Given the description of an element on the screen output the (x, y) to click on. 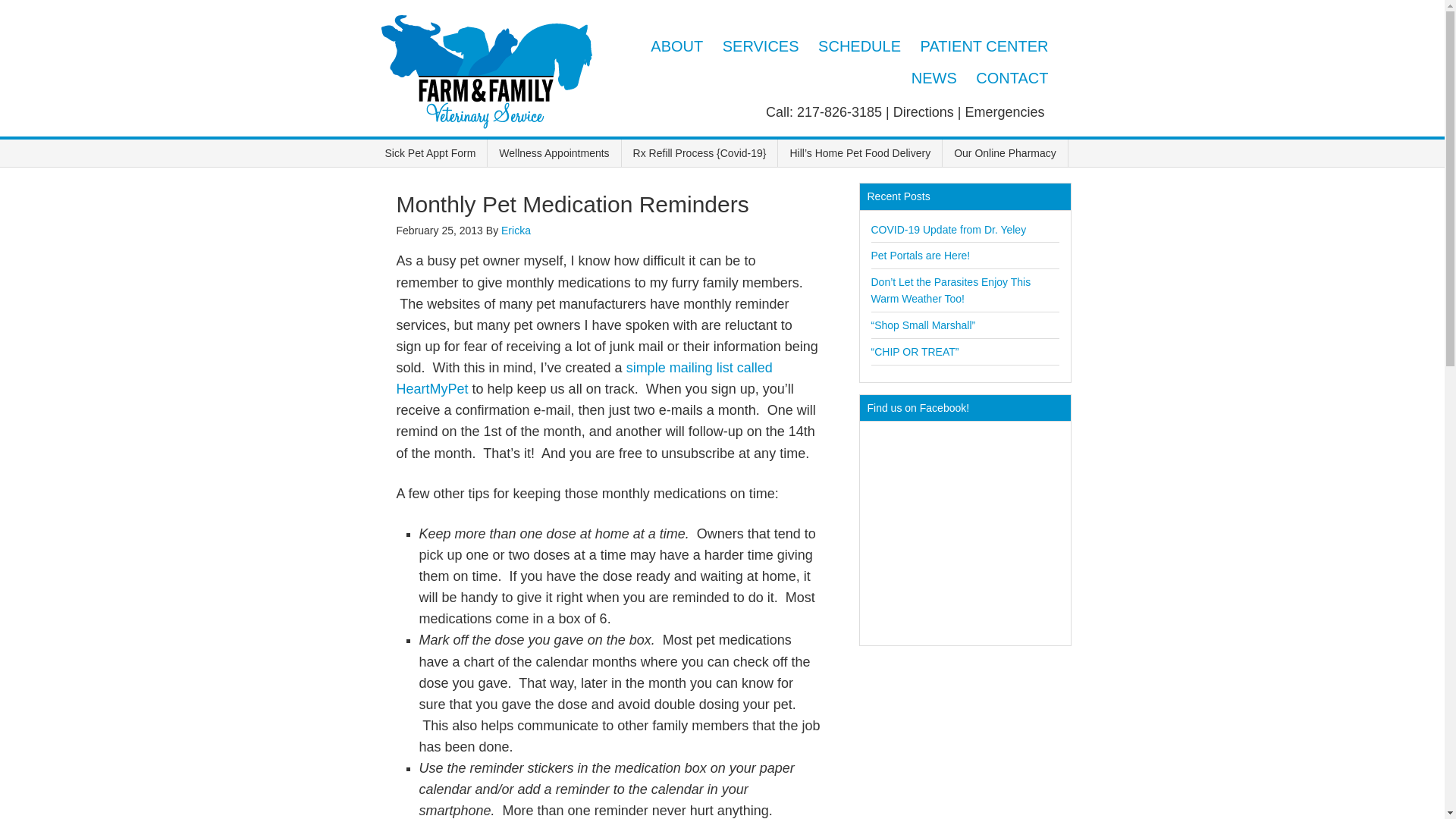
SCHEDULE (859, 46)
Farm and Family Vet (486, 75)
PATIENT CENTER (984, 46)
NEWS (933, 78)
Pet Portals are Here! (919, 255)
Wellness Appointments (554, 153)
Directions (923, 111)
COVID-19 Update from Dr. Yeley (948, 228)
simple mailing list called HeartMyPet (583, 378)
ABOUT (676, 46)
SERVICES (760, 46)
Ericka (515, 230)
Sick Pet Appt Form (429, 153)
CONTACT (1011, 78)
Emergencies (1003, 111)
